Given the description of an element on the screen output the (x, y) to click on. 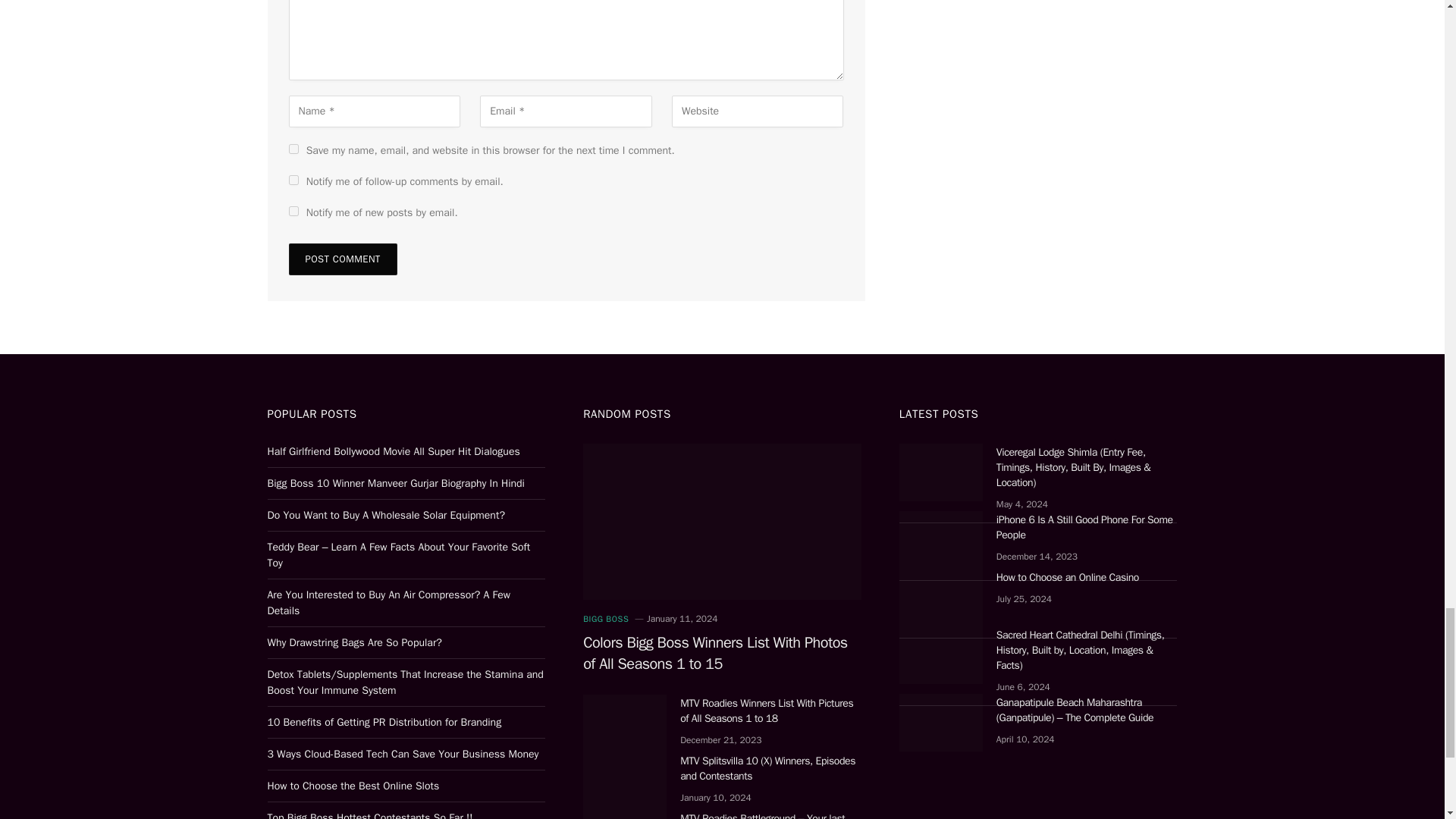
Post Comment (342, 259)
subscribe (293, 180)
yes (293, 148)
subscribe (293, 211)
